Given the description of an element on the screen output the (x, y) to click on. 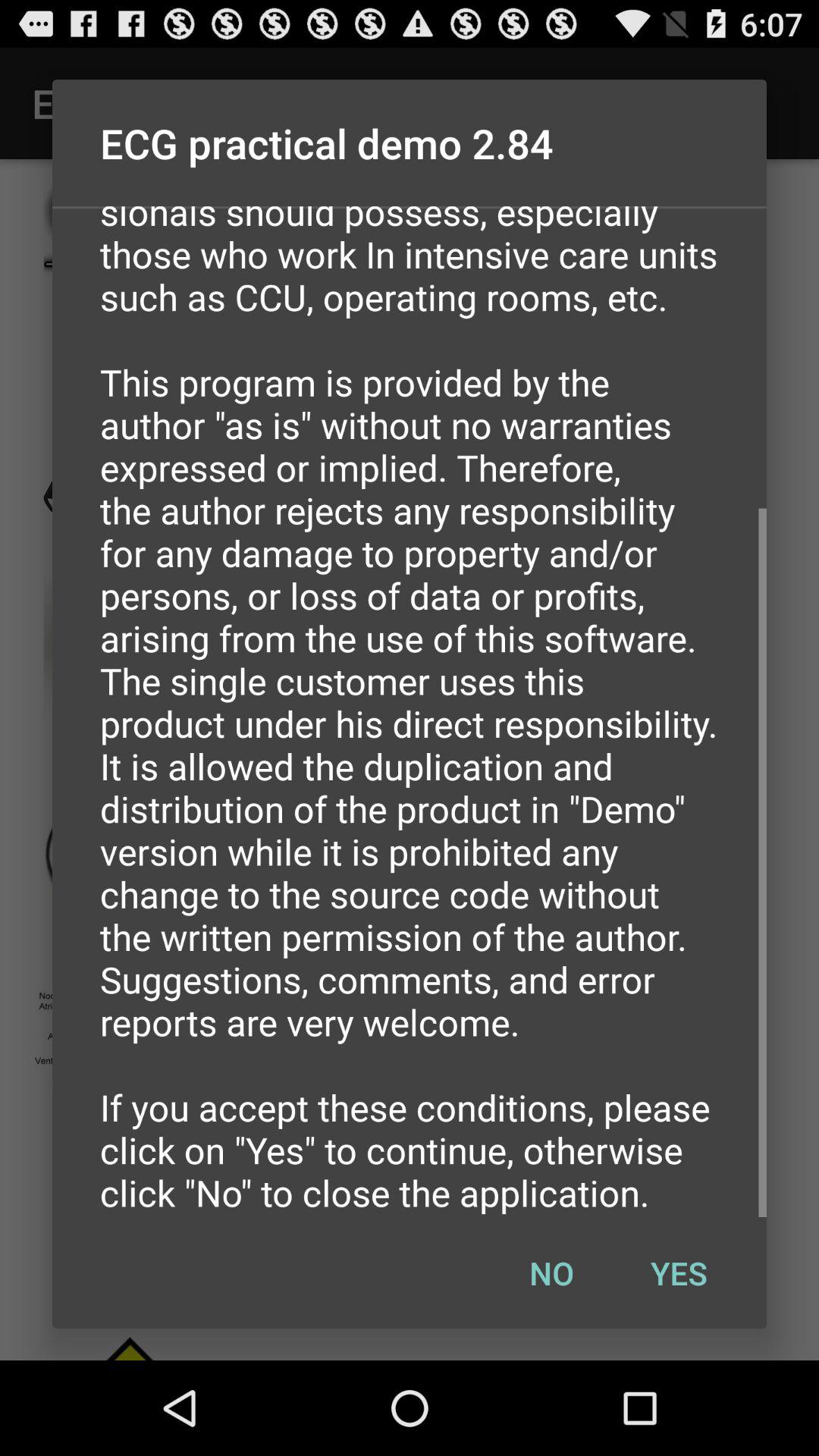
select yes icon (678, 1272)
